Given the description of an element on the screen output the (x, y) to click on. 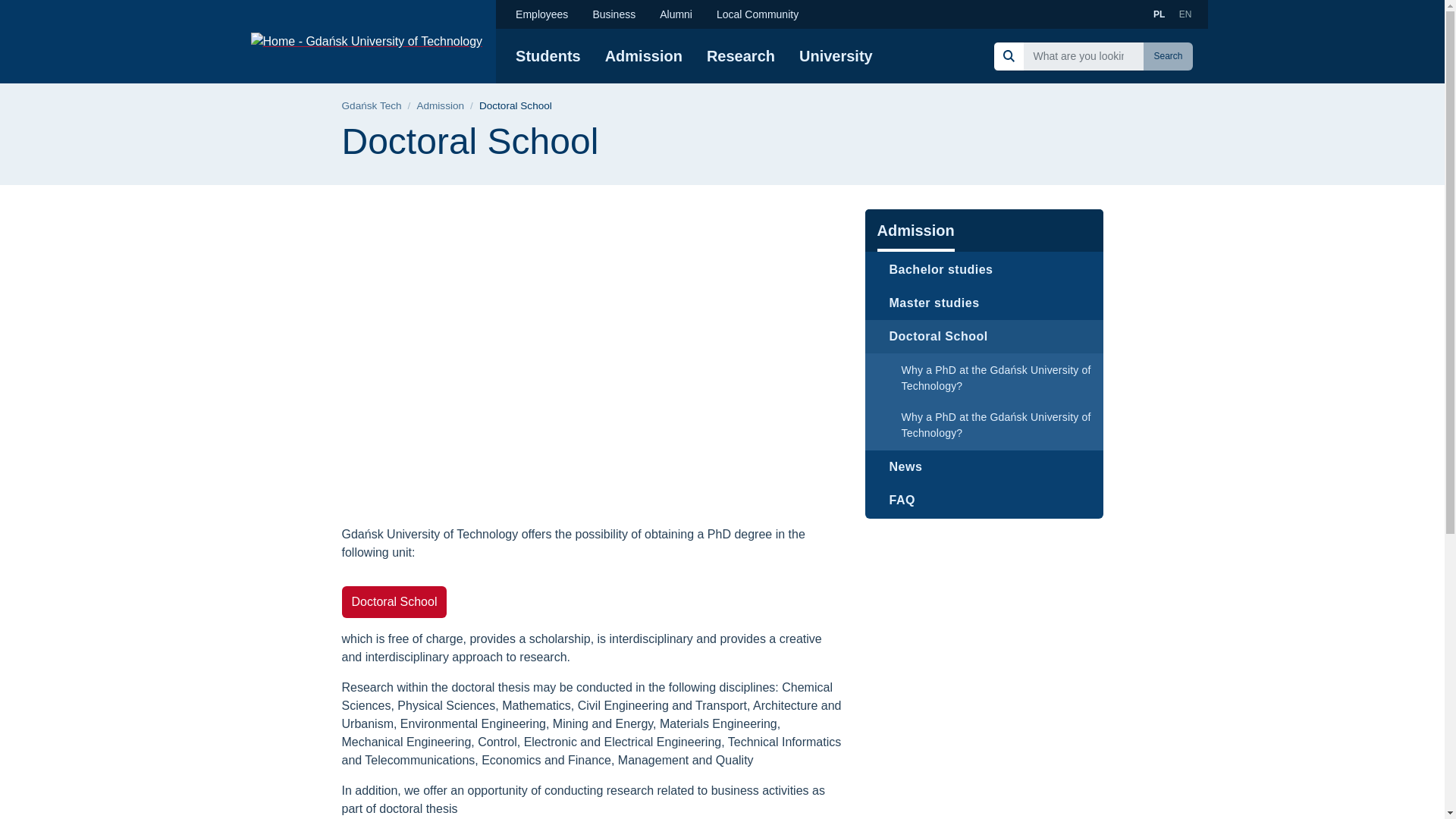
Search (1167, 56)
Search (1167, 56)
Back to Admission (440, 105)
Enter the terms you wish to search for. (1082, 55)
